Given the description of an element on the screen output the (x, y) to click on. 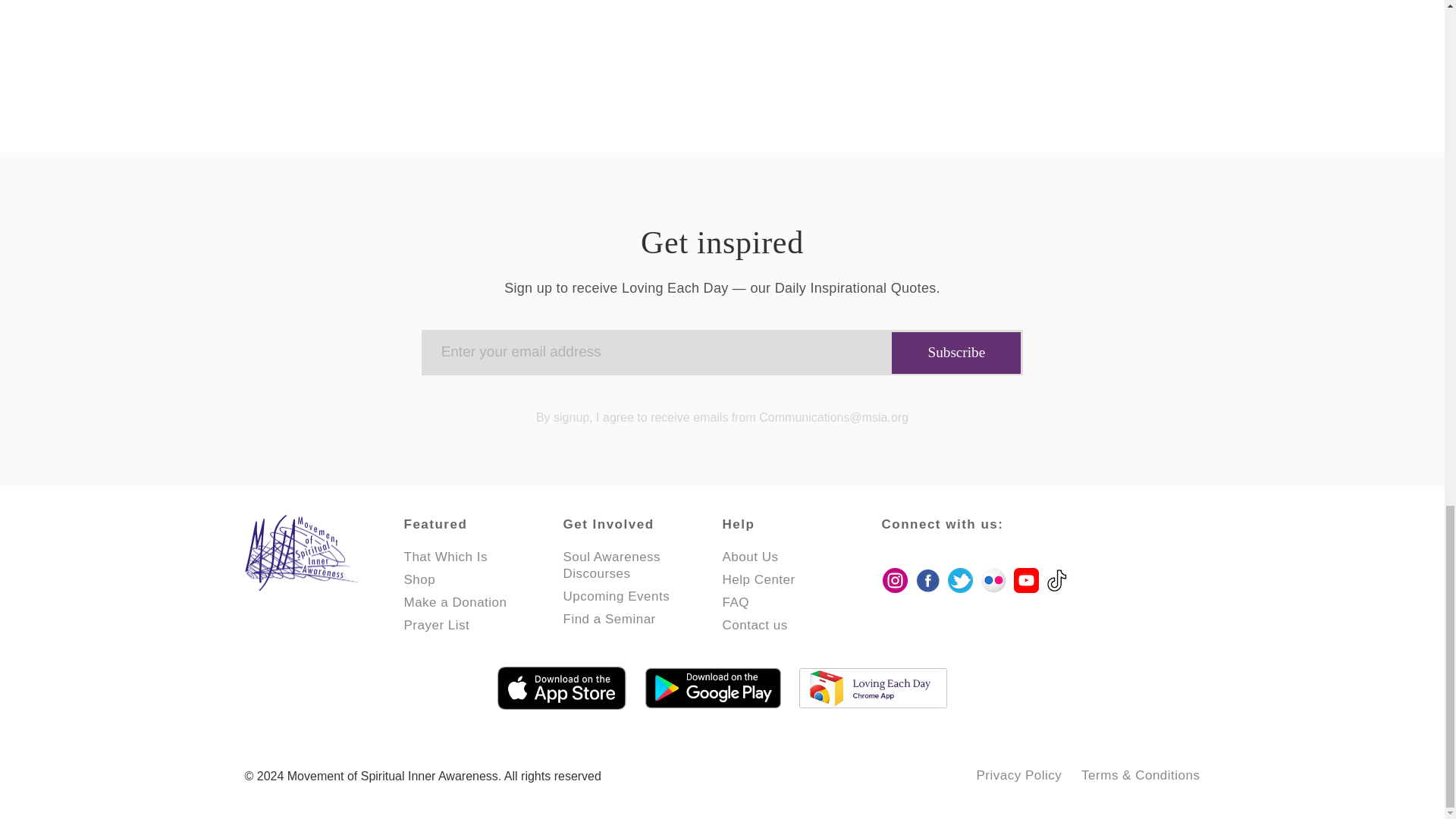
Find a Seminar (608, 618)
That Which Is (444, 556)
Upcoming Events (615, 595)
Soul Awareness Discourses (611, 564)
Prayer List (435, 625)
Make a Donation (454, 602)
Subscribe (955, 352)
Shop (419, 579)
